Given the description of an element on the screen output the (x, y) to click on. 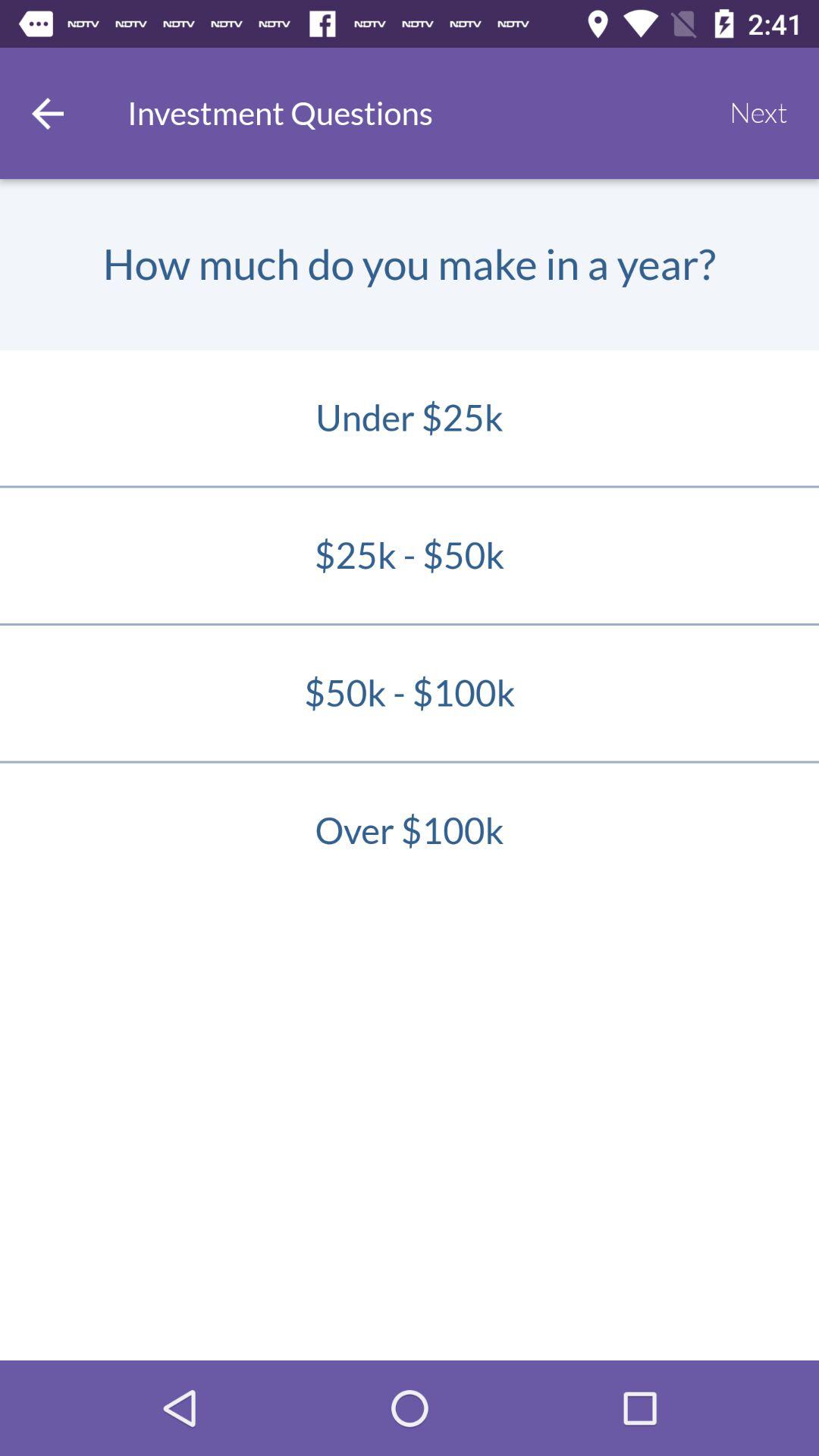
tap icon to the left of investment questions item (47, 113)
